Given the description of an element on the screen output the (x, y) to click on. 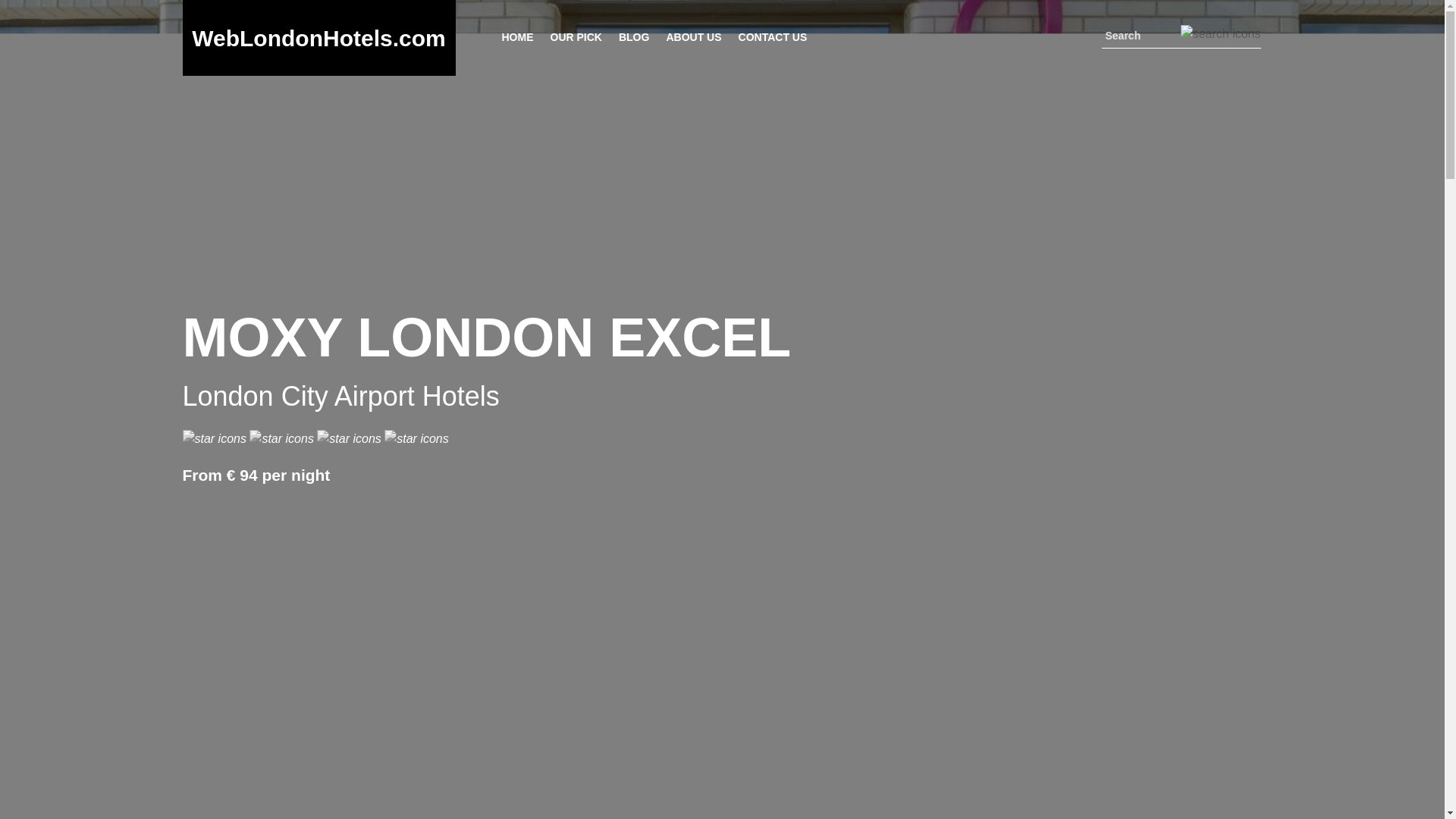
CONTACT US (772, 35)
HOME (517, 35)
Blog (632, 35)
Contact Us (772, 35)
Home (517, 35)
About Us (693, 35)
OUR PICK (575, 35)
Our pick (575, 35)
WebLondonHotels.com (318, 38)
BLOG (632, 35)
